Given the description of an element on the screen output the (x, y) to click on. 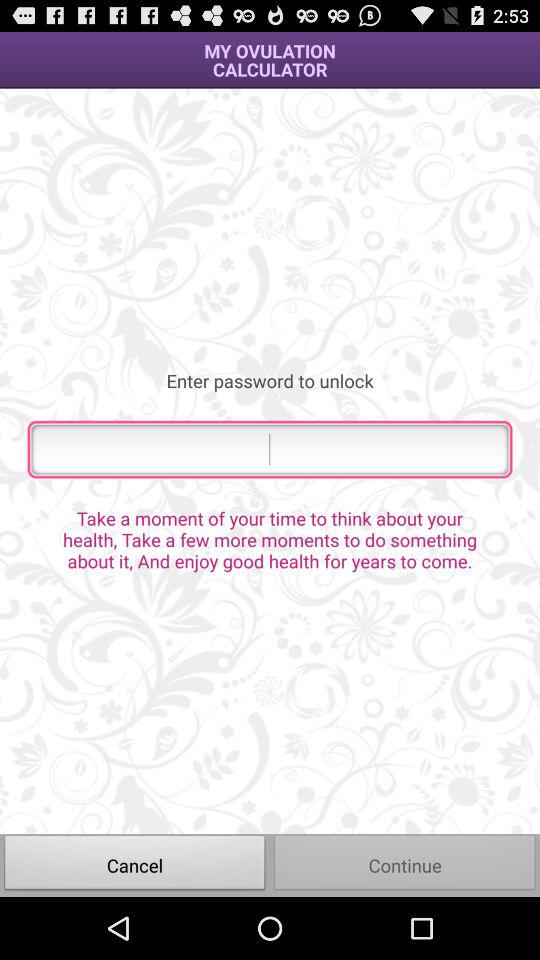
type in the password (269, 449)
